Given the description of an element on the screen output the (x, y) to click on. 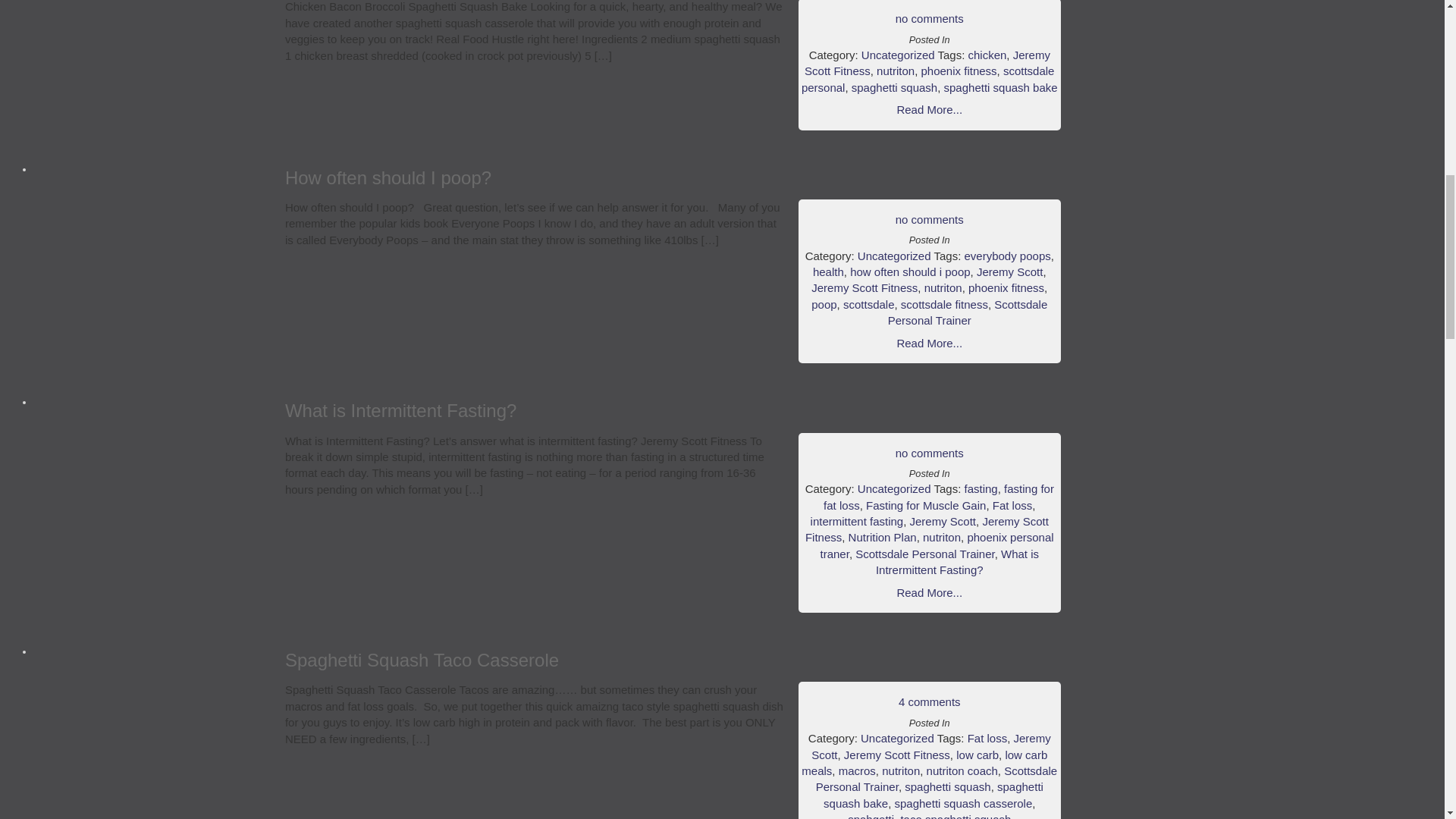
Permalink to Spaghetti Squash Taco Casserole (422, 660)
no comments (929, 18)
Permalink to What is Intermittent Fasting? (400, 410)
Permalink to How often should I poop? (388, 177)
